Given the description of an element on the screen output the (x, y) to click on. 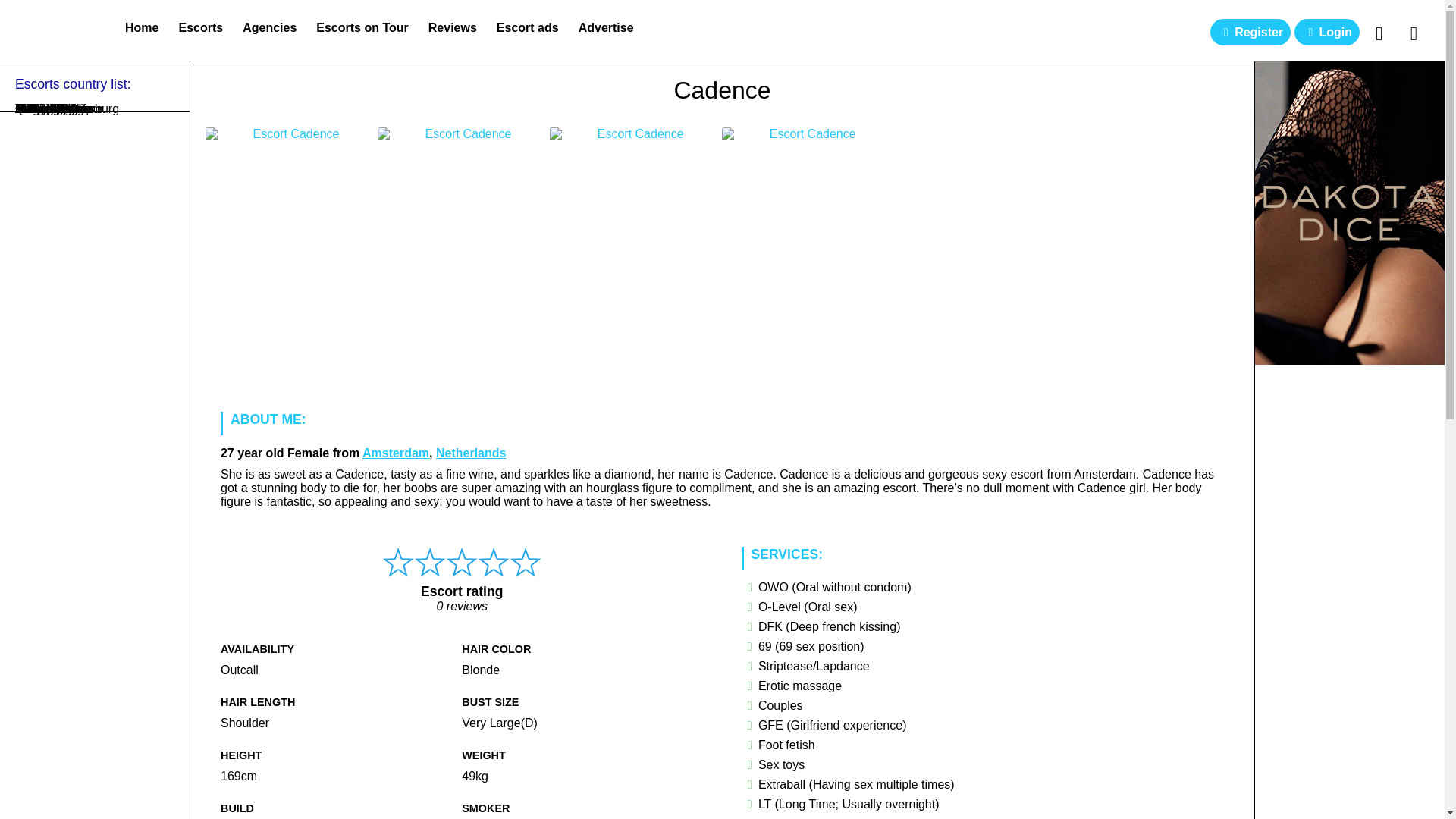
Login (1326, 31)
Escorts (200, 27)
Netherlands (470, 452)
Advertise (606, 27)
Home (141, 27)
Search (1378, 33)
Reviews (452, 27)
Escorts on Tour (362, 27)
Cadence (722, 94)
Contact Us (1413, 33)
